Given the description of an element on the screen output the (x, y) to click on. 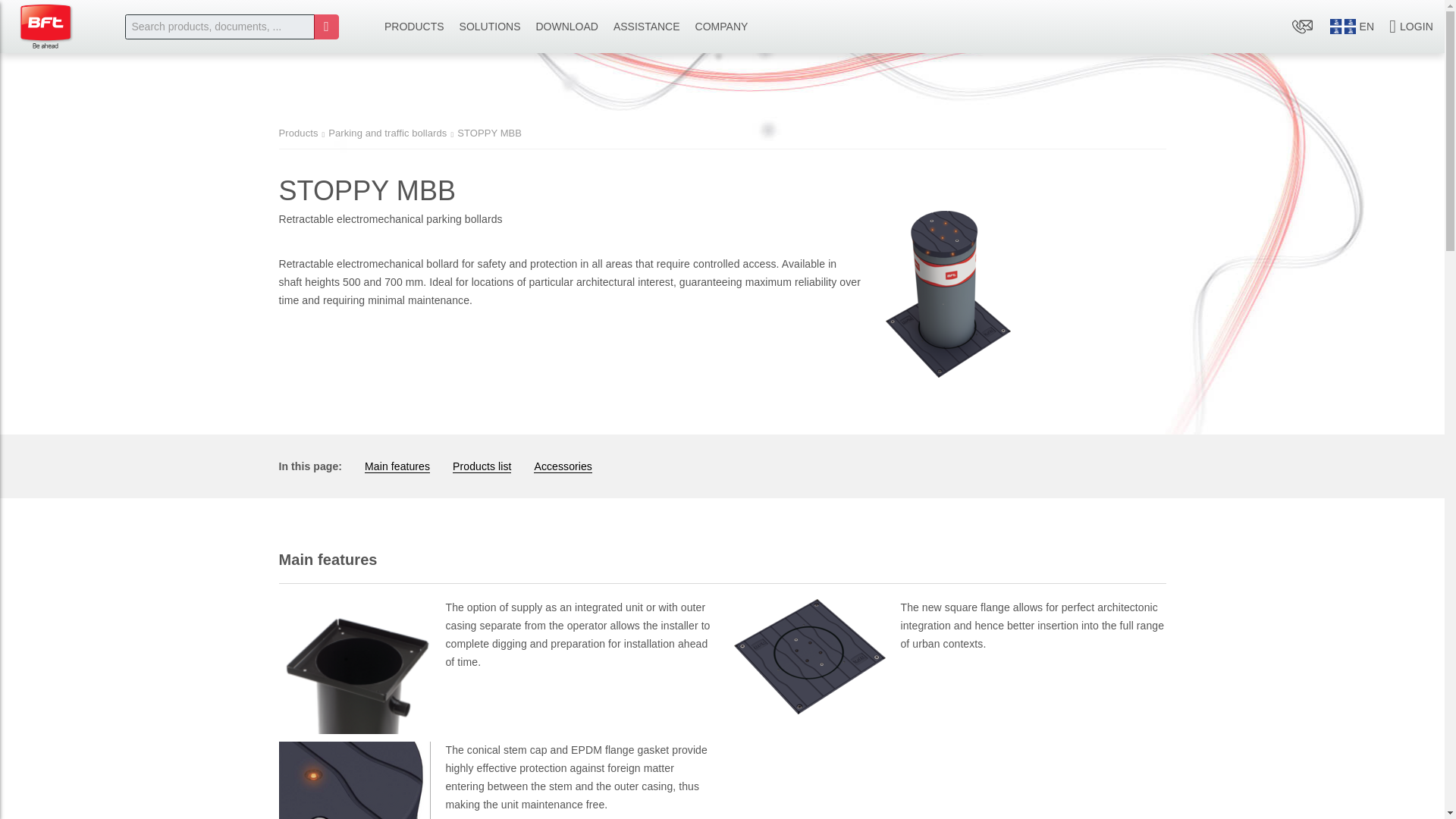
LOGIN (1411, 26)
LOGIN (1411, 26)
Family Detail (45, 26)
PRODUCTS (414, 26)
DOWNLOAD (566, 26)
COMPANY (721, 26)
ASSISTANCE (646, 26)
Bft Automation (45, 26)
SOLUTIONS (489, 26)
